Given the description of an element on the screen output the (x, y) to click on. 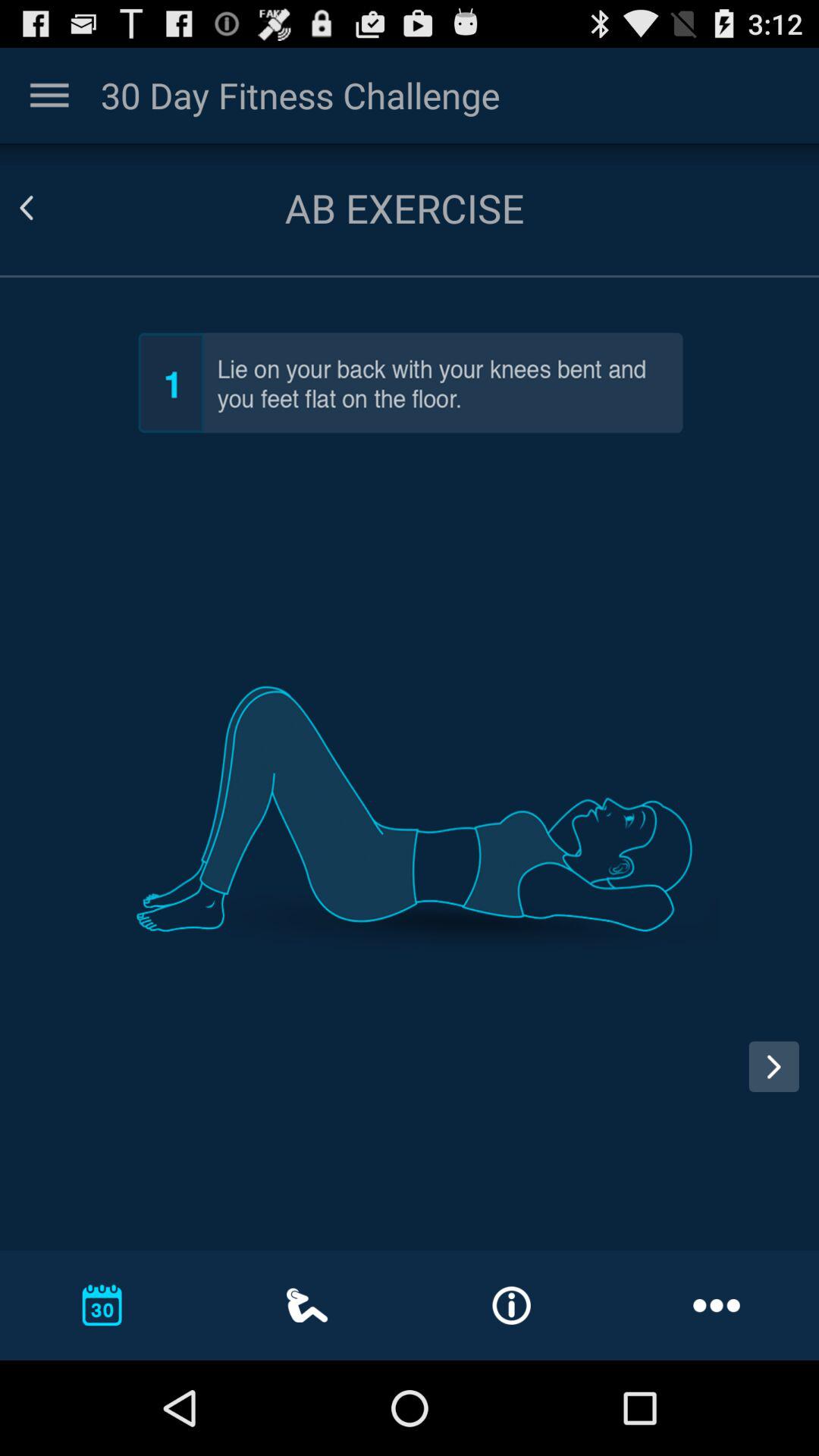
go forward (774, 1066)
